Given the description of an element on the screen output the (x, y) to click on. 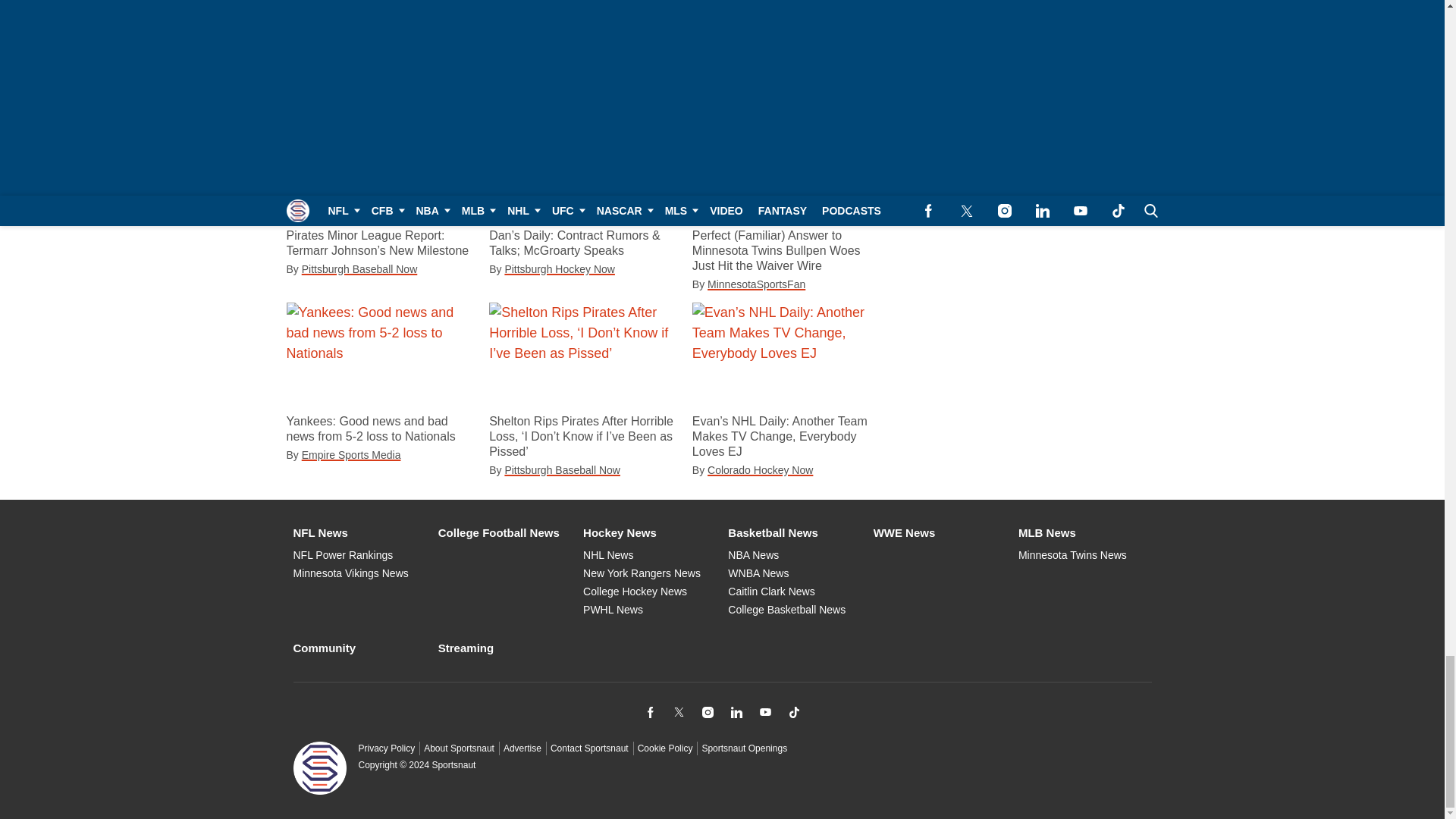
Follow us on Twitter (678, 712)
Connect with us on TikTok (794, 712)
Follow us on Facebook (650, 712)
Follow us on Instagram (707, 712)
Subscribe to our YouTube channel (765, 712)
Connect with us on LinkedIn (736, 712)
